Given the description of an element on the screen output the (x, y) to click on. 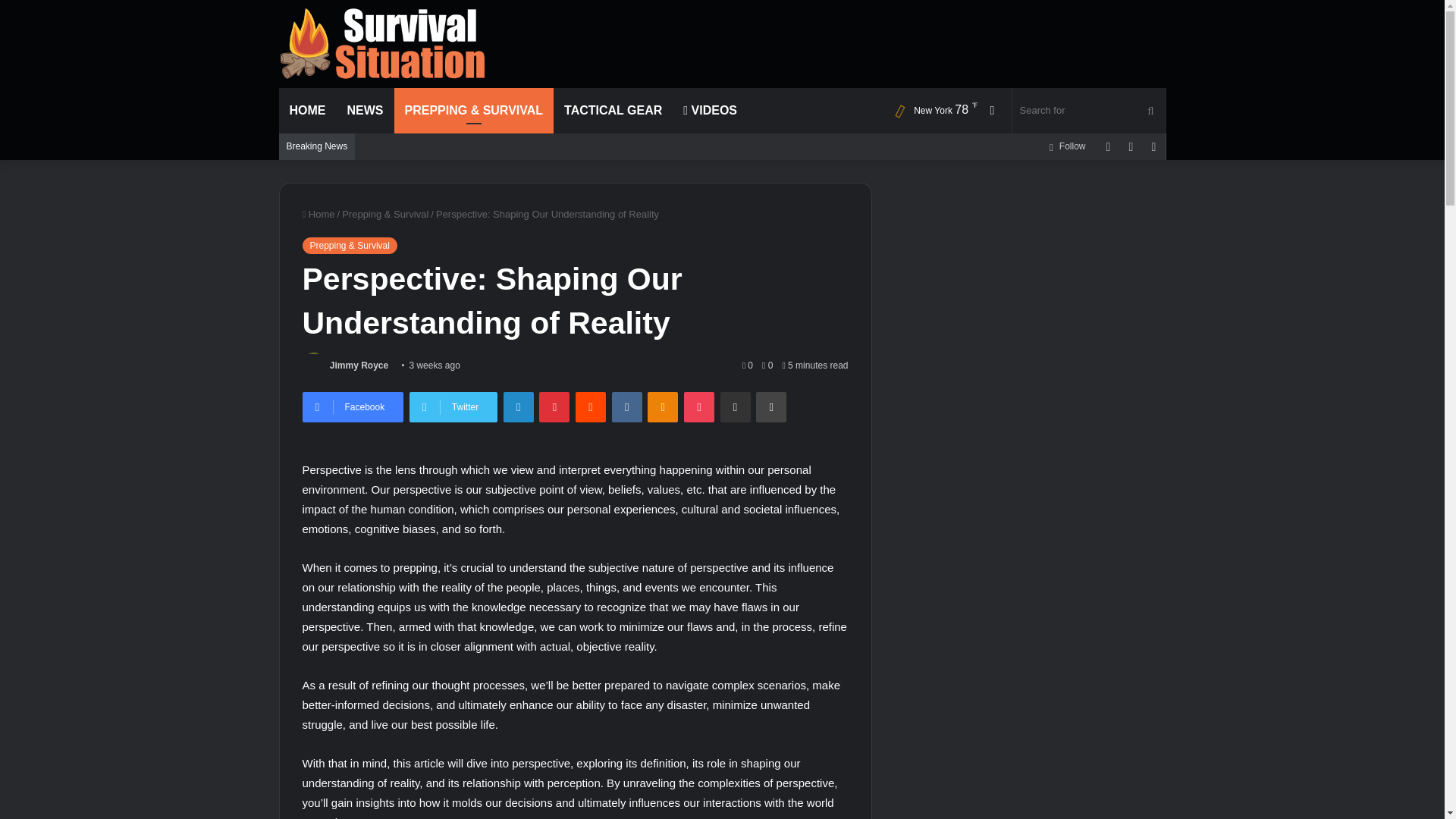
Pinterest (553, 407)
Facebook (352, 407)
Home (317, 214)
NEWS (365, 110)
Twitter (453, 407)
LinkedIn (518, 407)
Twitter (453, 407)
TACTICAL GEAR (612, 110)
HOME (307, 110)
Follow (1067, 146)
